Given the description of an element on the screen output the (x, y) to click on. 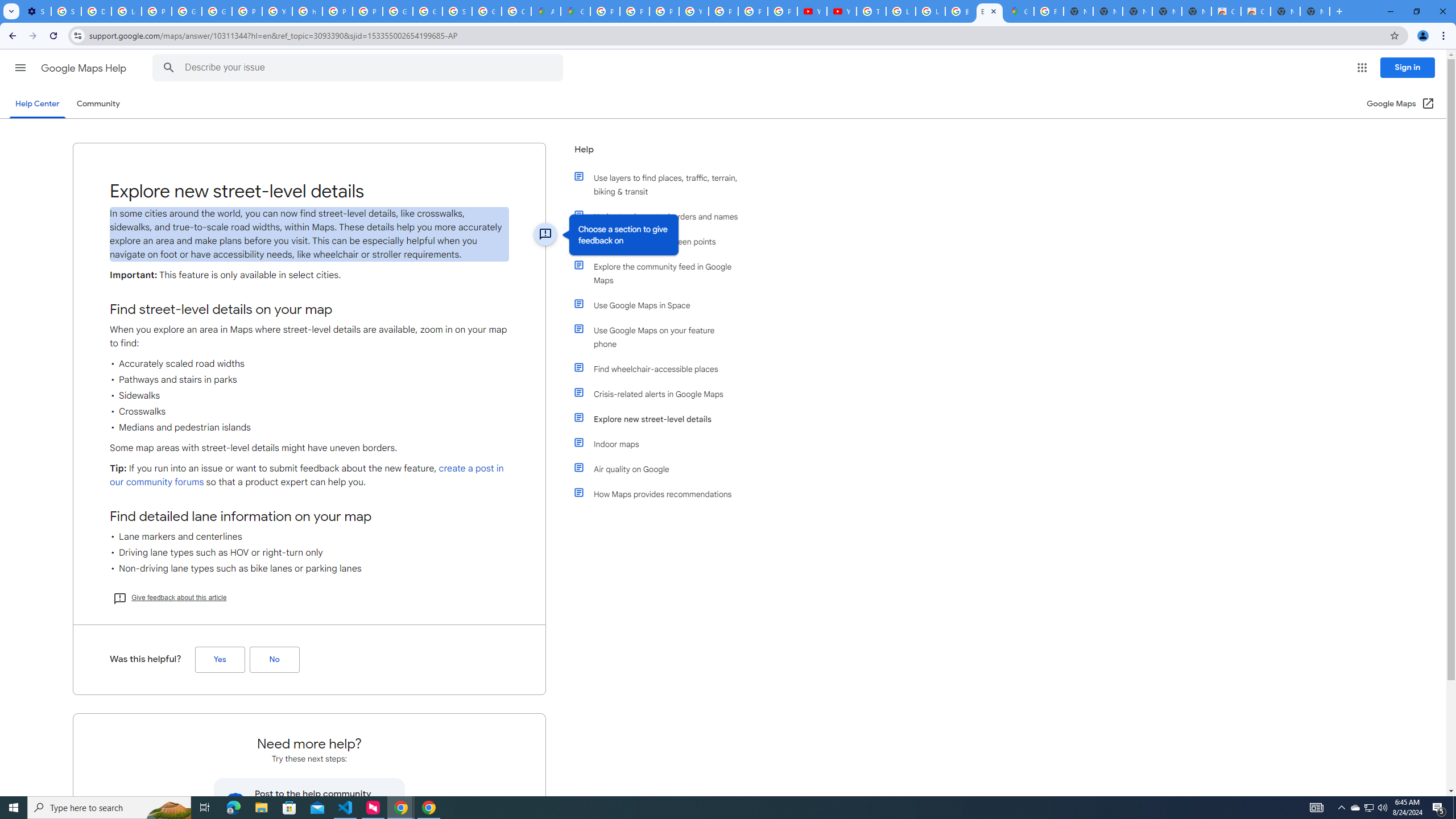
Crosswalks (309, 411)
Delete photos & videos - Computer - Google Photos Help (95, 11)
YouTube (693, 11)
Community (97, 103)
Google Maps Help (84, 68)
Privacy Checkup (753, 11)
Google Maps (1018, 11)
YouTube (841, 11)
Explore new street-level details (661, 419)
